Given the description of an element on the screen output the (x, y) to click on. 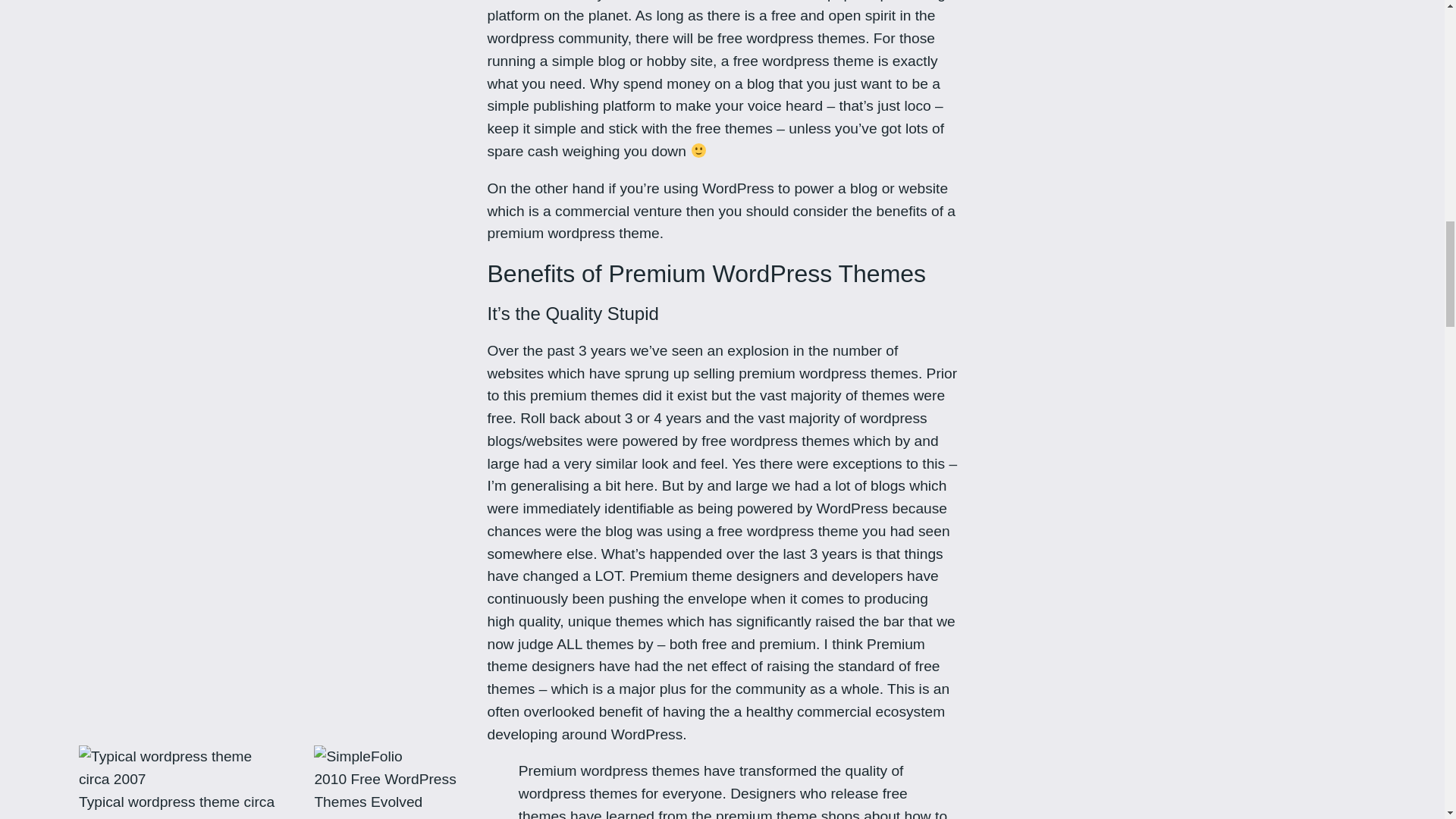
Typical wordpress theme circa 2007 (181, 768)
